Given the description of an element on the screen output the (x, y) to click on. 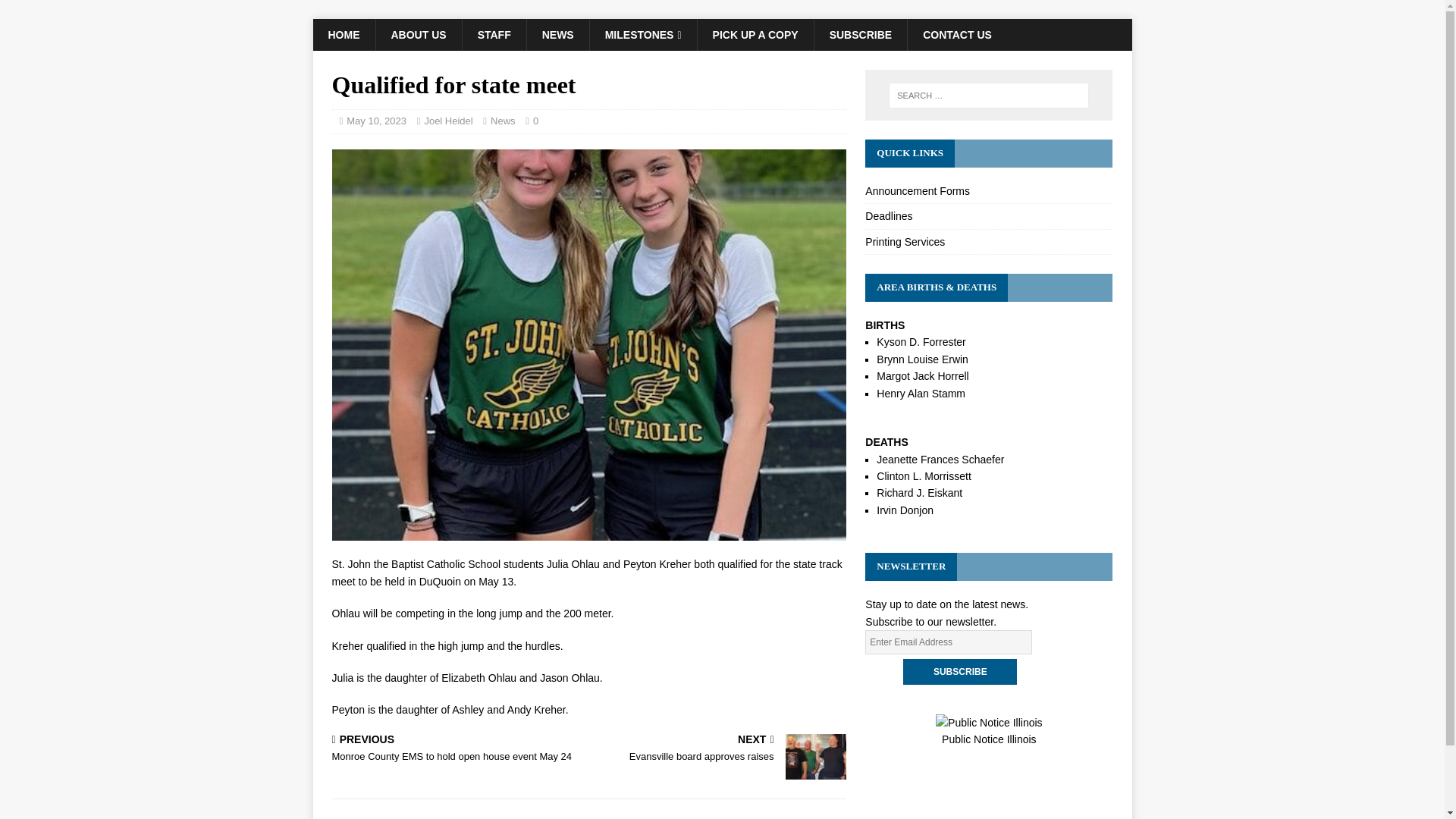
Joel Heidel (447, 120)
PICK UP A COPY (755, 34)
May 10, 2023 (376, 120)
SUBSCRIBE (860, 34)
STAFF (493, 34)
Brynn Louise Erwin (922, 358)
MILESTONES (643, 34)
Henry Alan Stamm (920, 392)
CONTACT US (957, 34)
HOME (343, 34)
Kyson D. Forrester (920, 341)
Printing Services (988, 241)
SUBSCRIBE (720, 748)
